Given the description of an element on the screen output the (x, y) to click on. 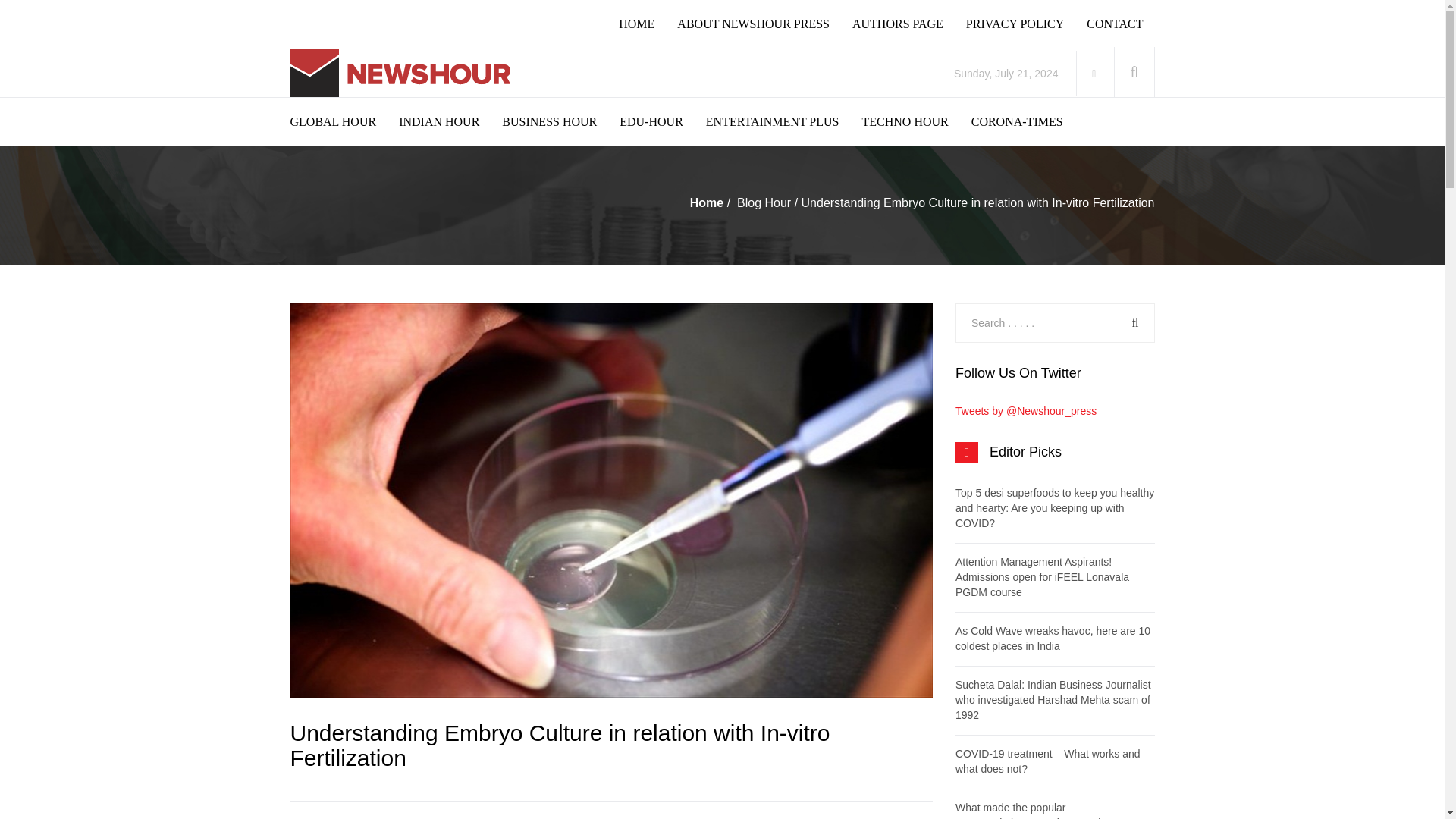
BUSINESS HOUR (561, 121)
EDU-HOUR (663, 121)
CORONA-TIMES (1028, 121)
Home (706, 202)
Logo (403, 72)
HOME (647, 23)
ENTERTAINMENT PLUS (783, 121)
ABOUT NEWSHOUR PRESS (764, 23)
Blog Hour (763, 202)
CONTACT (1126, 23)
TECHNO HOUR (916, 121)
GLOBAL HOUR (343, 121)
INDIAN HOUR (450, 121)
AUTHORS PAGE (908, 23)
